Given the description of an element on the screen output the (x, y) to click on. 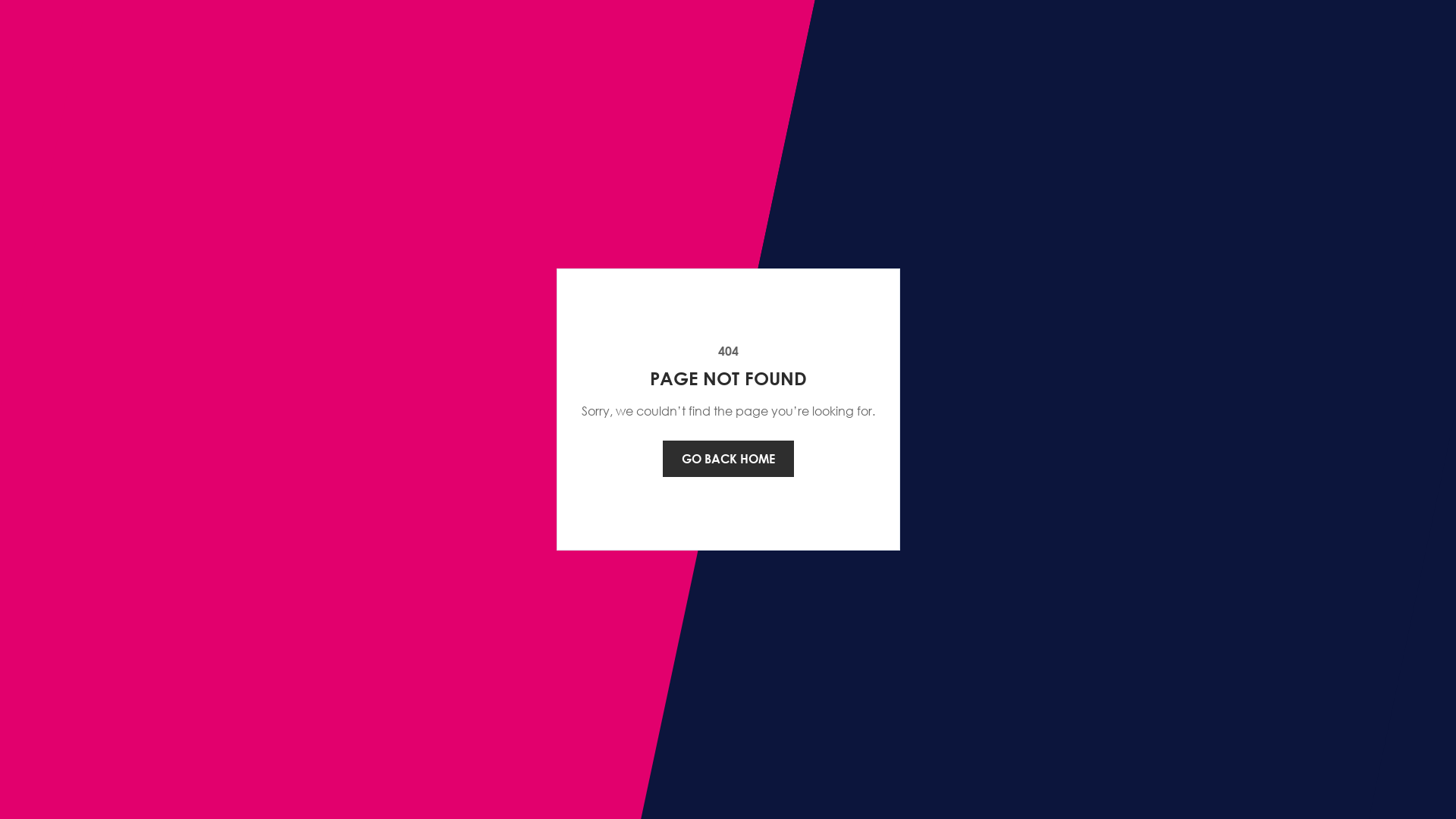
GO BACK HOME Element type: text (727, 458)
